Given the description of an element on the screen output the (x, y) to click on. 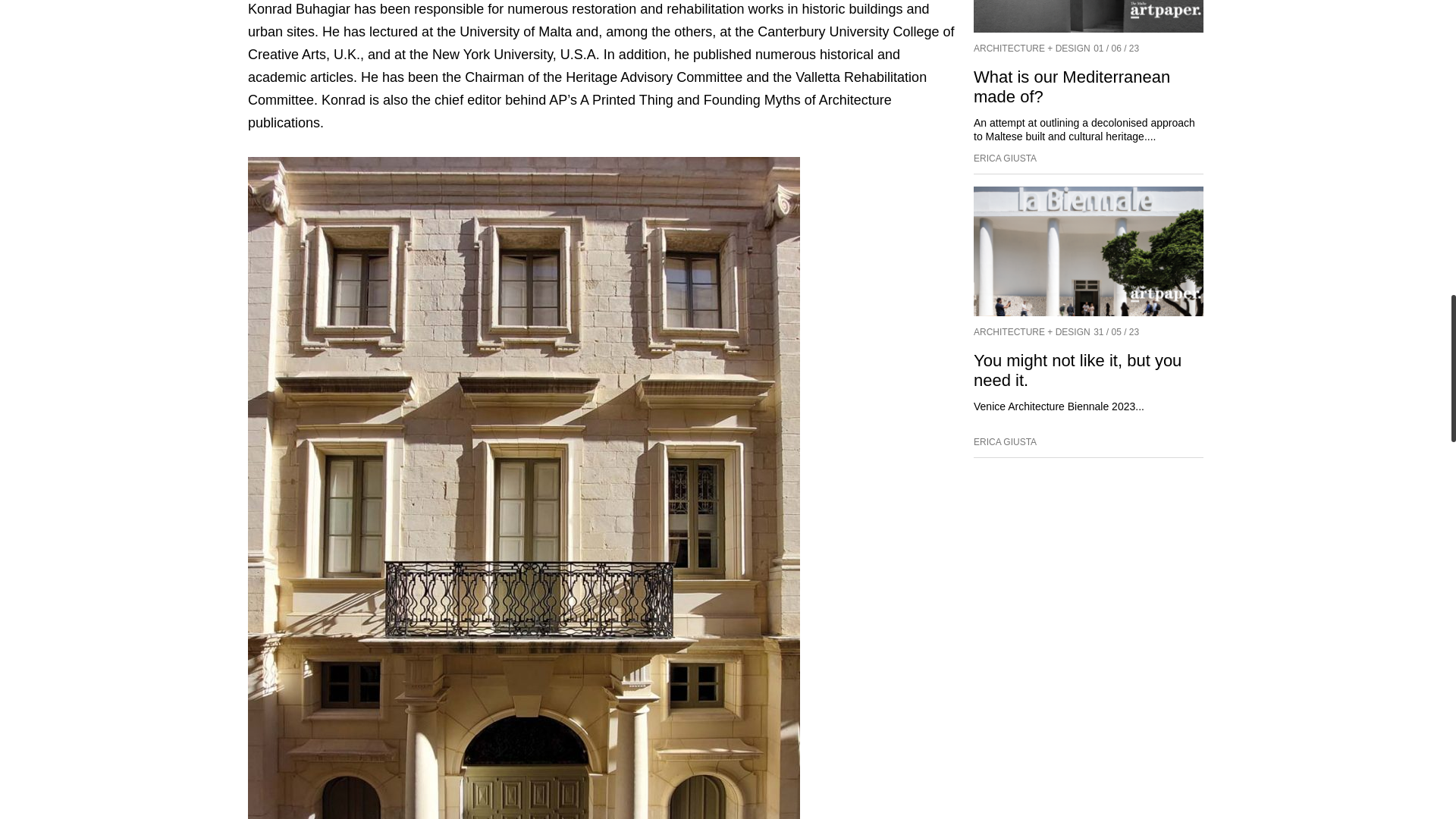
You might not like it, but you need it. (1077, 370)
What is our Mediterranean made of? (1089, 16)
You might not like it, but you need it. (1089, 251)
What is our Mediterranean made of? (1072, 86)
